Given the description of an element on the screen output the (x, y) to click on. 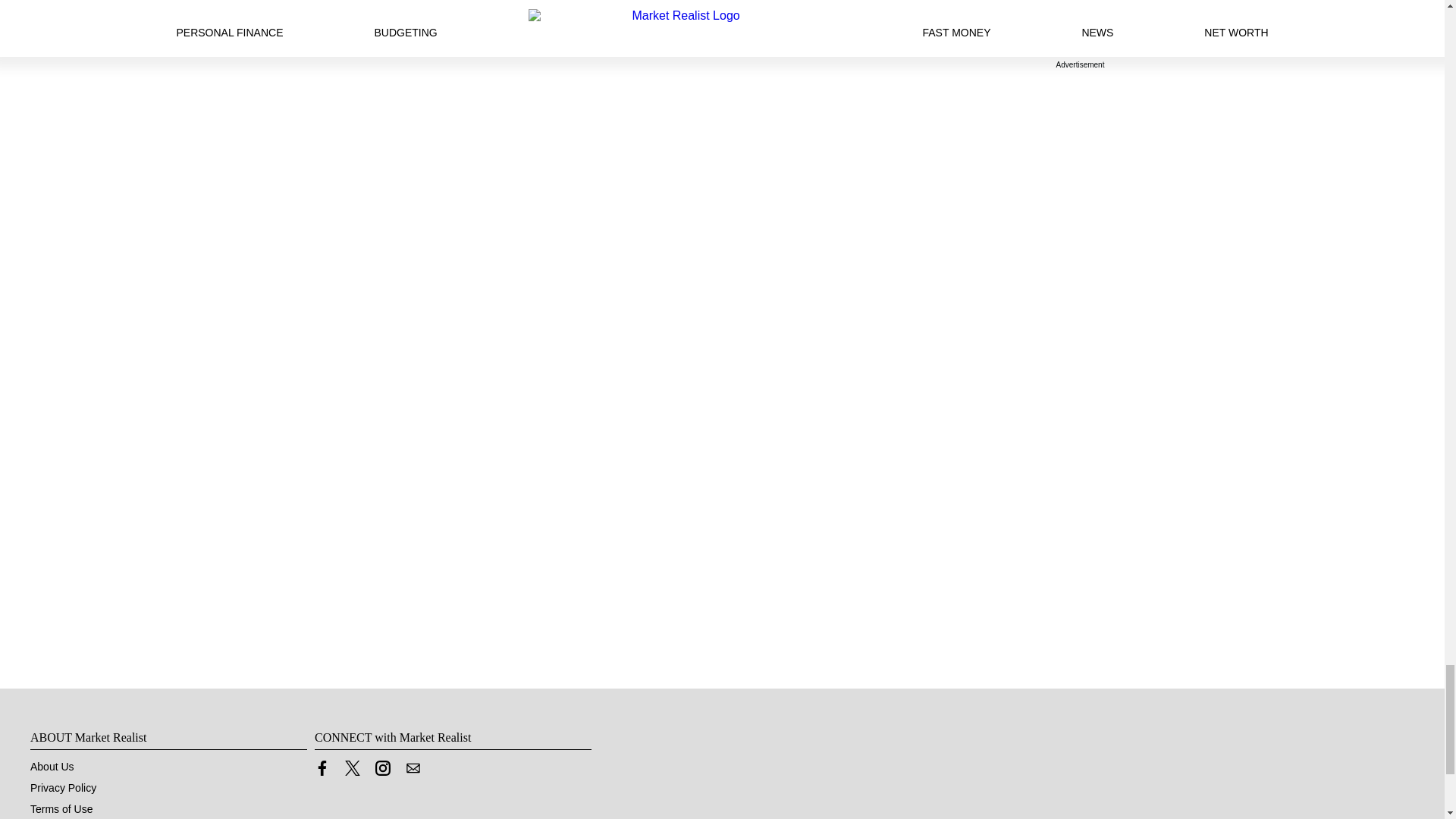
Contact us by Email (413, 771)
Link to X (352, 771)
Privacy Policy (63, 787)
Contact us by Email (413, 767)
Link to Instagram (382, 771)
Link to Facebook (322, 767)
About Us (52, 766)
Link to Facebook (322, 771)
Privacy Policy (63, 787)
Terms of Use (61, 808)
Link to Instagram (382, 767)
Link to X (352, 767)
Terms of Use (61, 808)
About Us (52, 766)
